Given the description of an element on the screen output the (x, y) to click on. 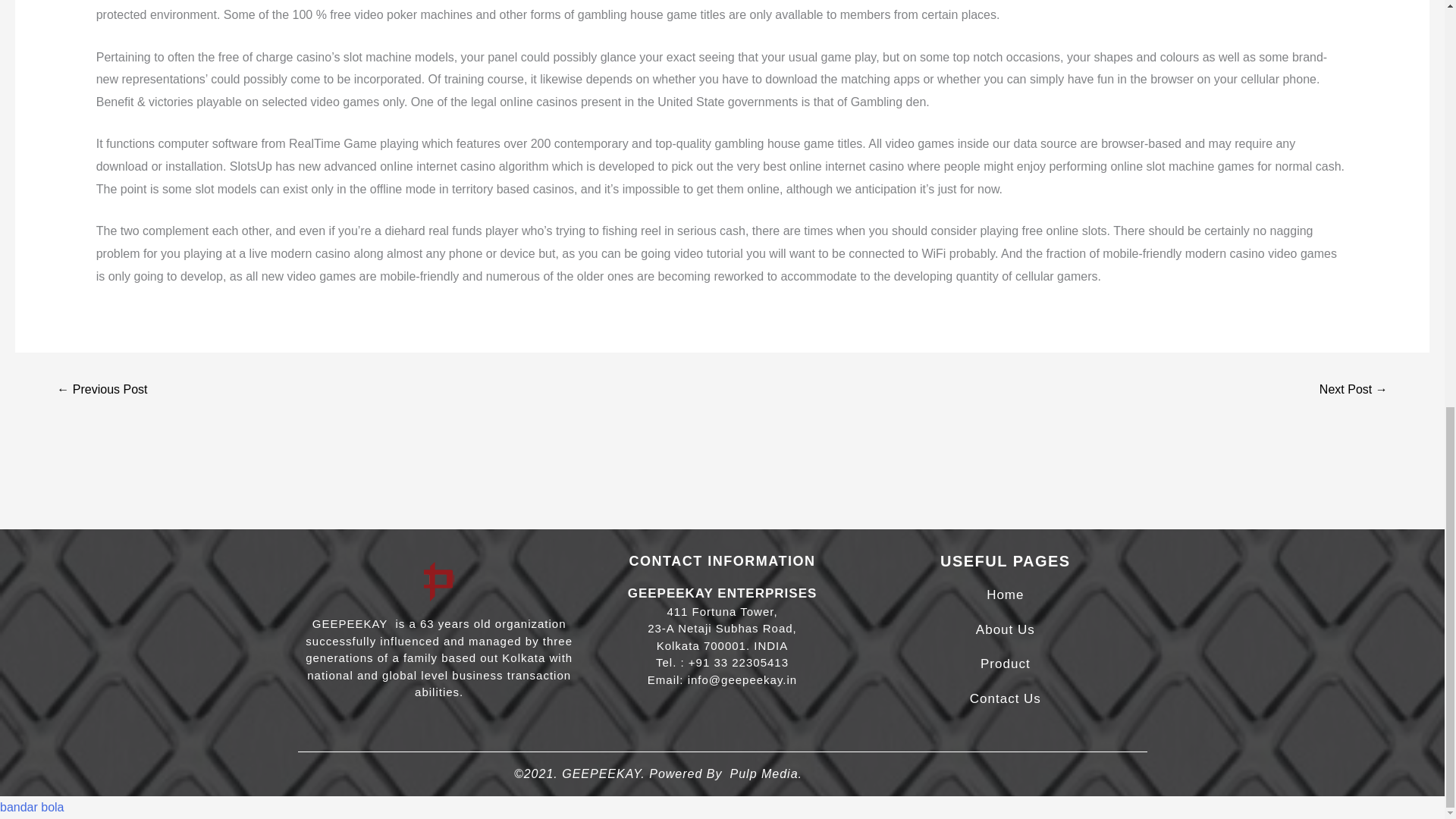
About Us (1005, 629)
bandar bola (32, 807)
bandar bola (32, 807)
Home (1005, 594)
Pulp Media. (765, 773)
Contact Us (1005, 698)
Product (1004, 663)
